Given the description of an element on the screen output the (x, y) to click on. 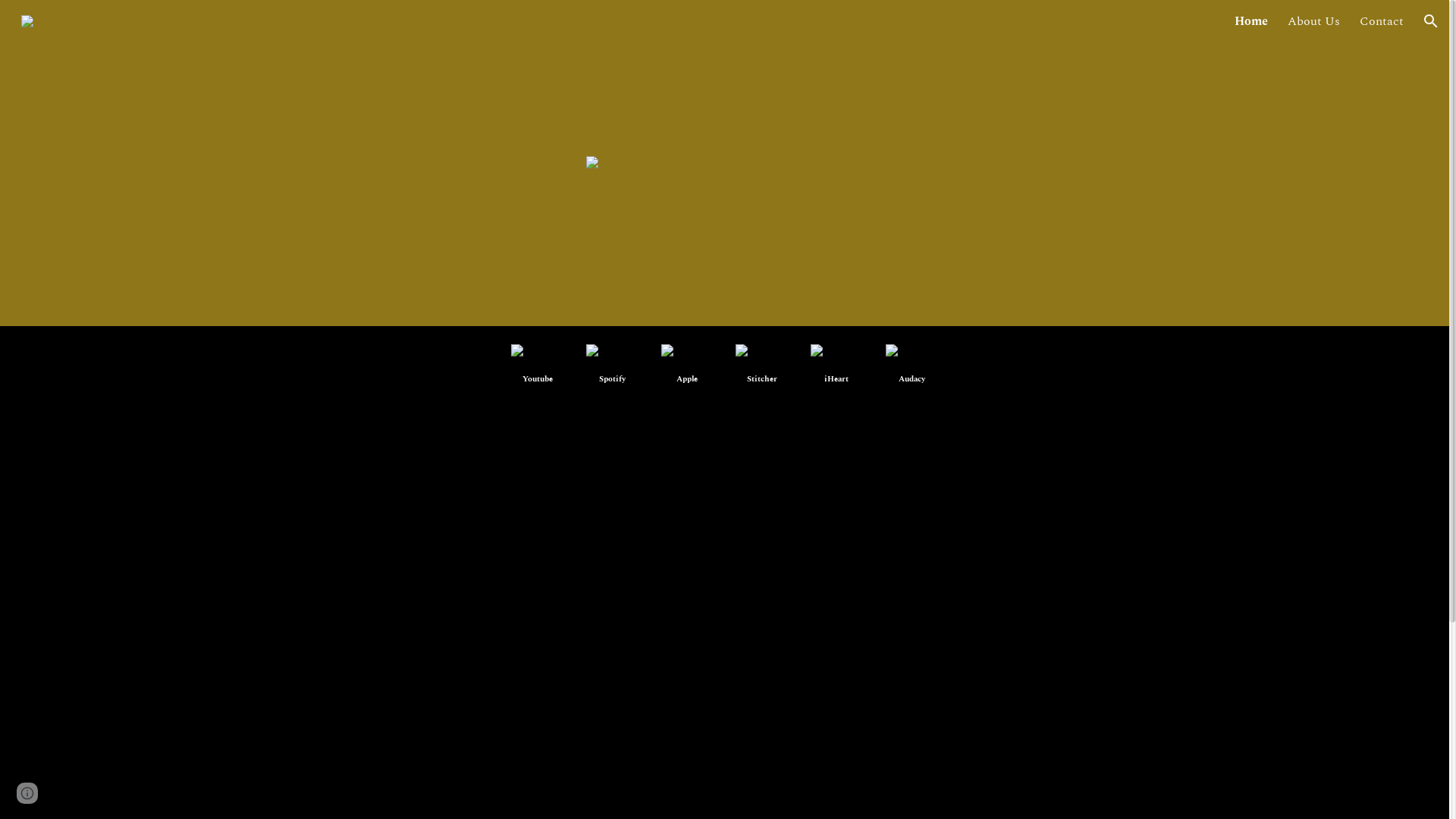
Contact Element type: text (1381, 21)
About Us Element type: text (1313, 21)
Home Element type: text (1250, 21)
